Given the description of an element on the screen output the (x, y) to click on. 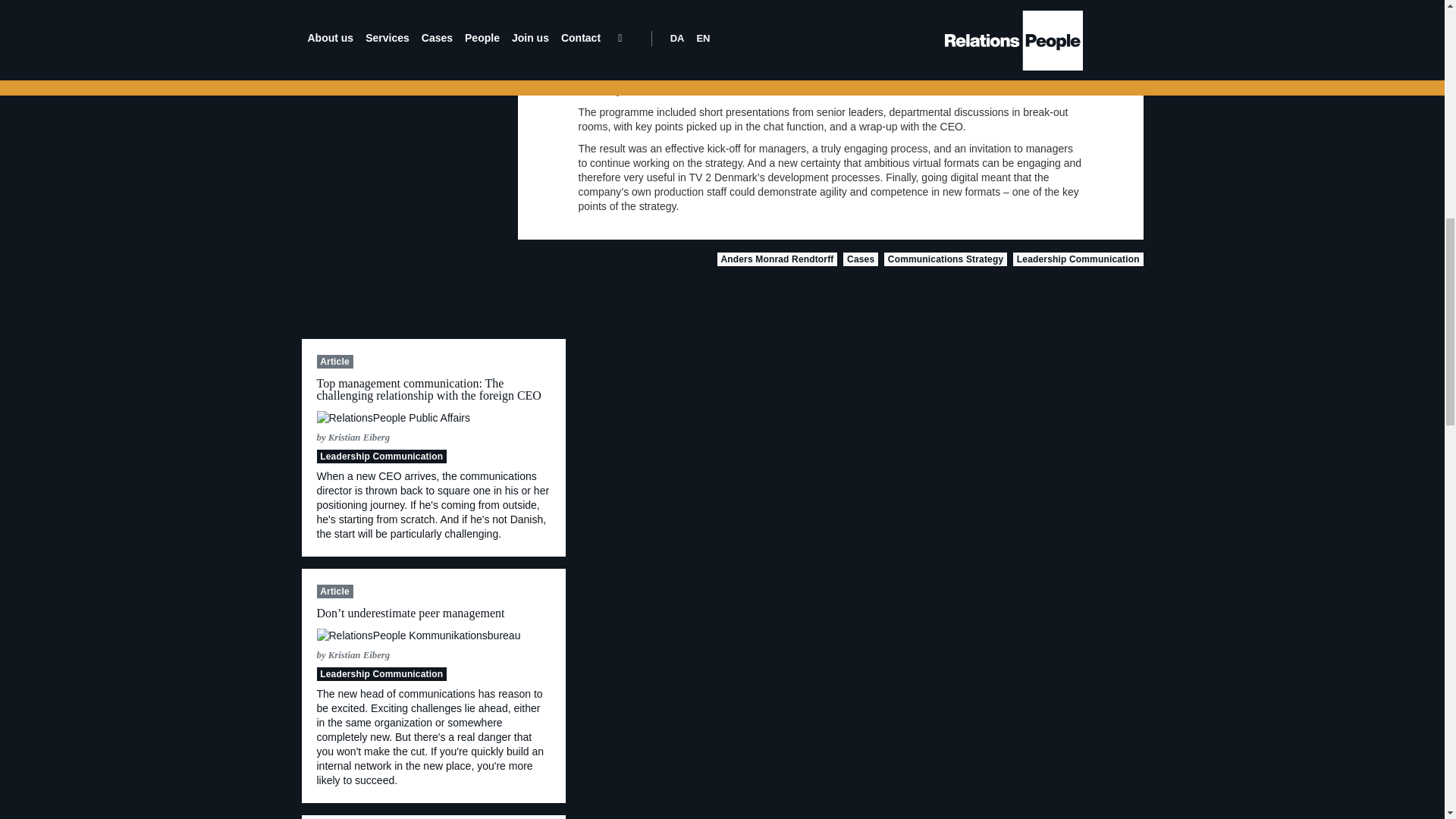
photo-1523875194681-bedd468c58bf (393, 418)
Toplederkom (419, 635)
Leadership Communication (1077, 259)
Communications Strategy (945, 259)
Cases (860, 259)
Anders Monrad Rendtorff (777, 259)
